Given the description of an element on the screen output the (x, y) to click on. 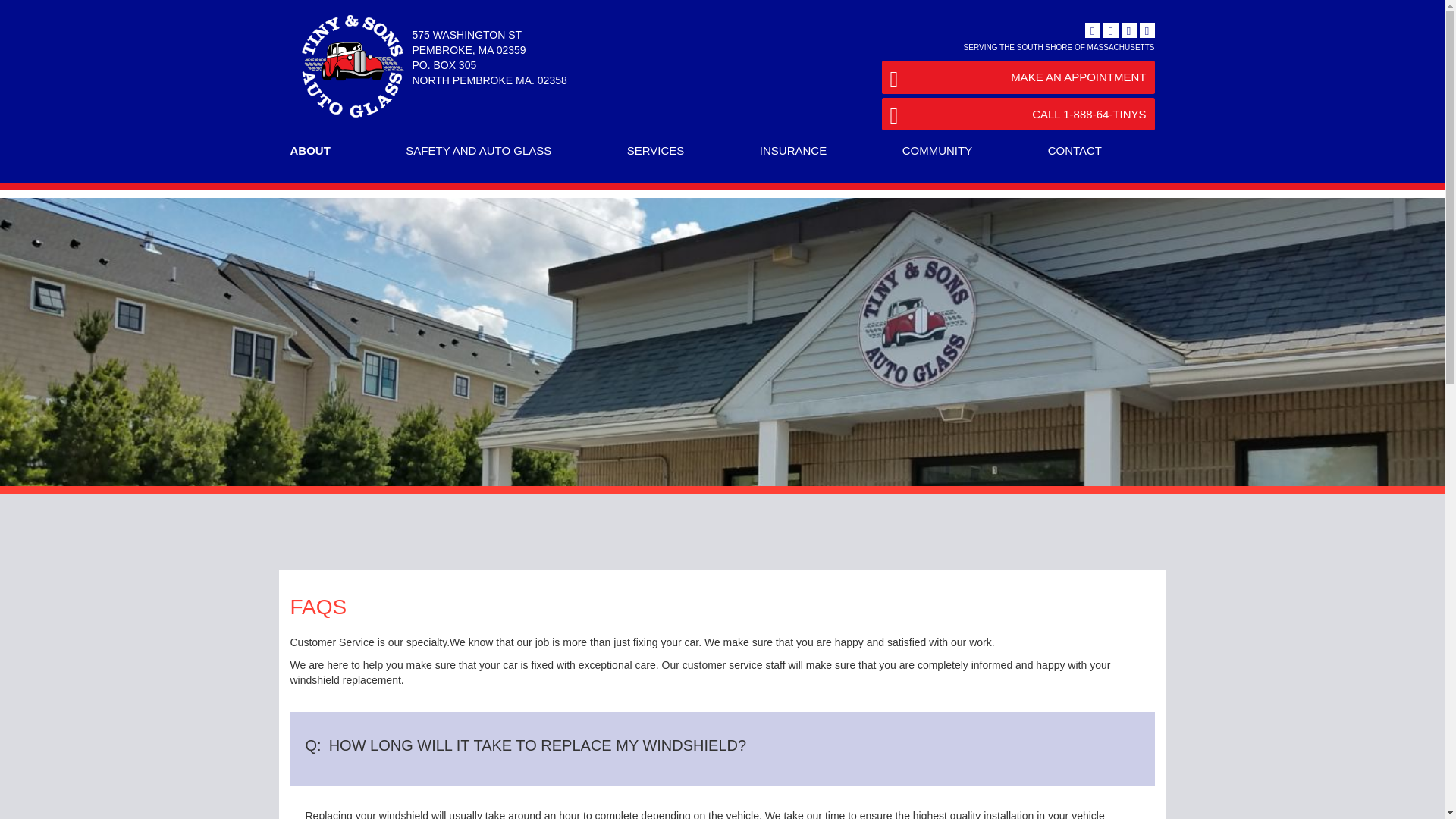
SAFETY AND AUTO GLASS (478, 150)
Tiny and Sons (335, 21)
ABOUT (310, 150)
INSURANCE (793, 150)
MAKE AN APPOINTMENT (1018, 76)
CALL 1-888-64-TINYS (1018, 113)
CONTACT (1074, 150)
SERVICES (655, 150)
